Given the description of an element on the screen output the (x, y) to click on. 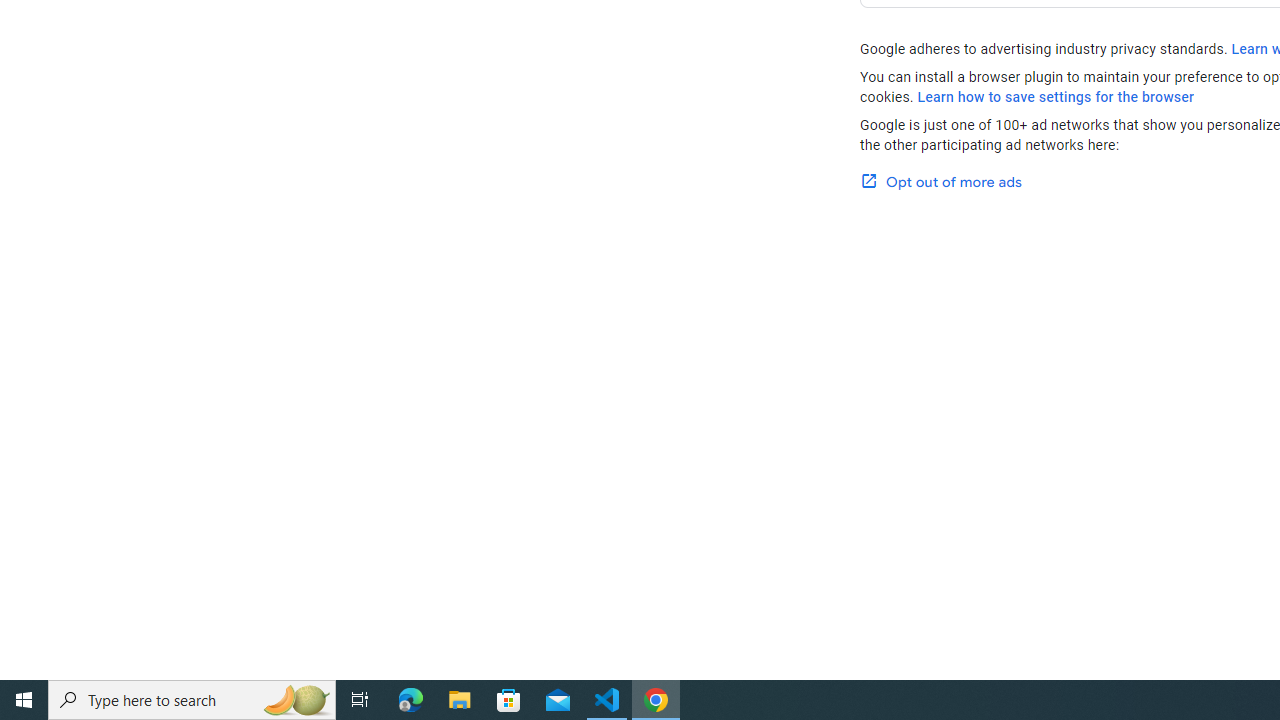
Learn how to save settings for the browser (1055, 97)
